Given the description of an element on the screen output the (x, y) to click on. 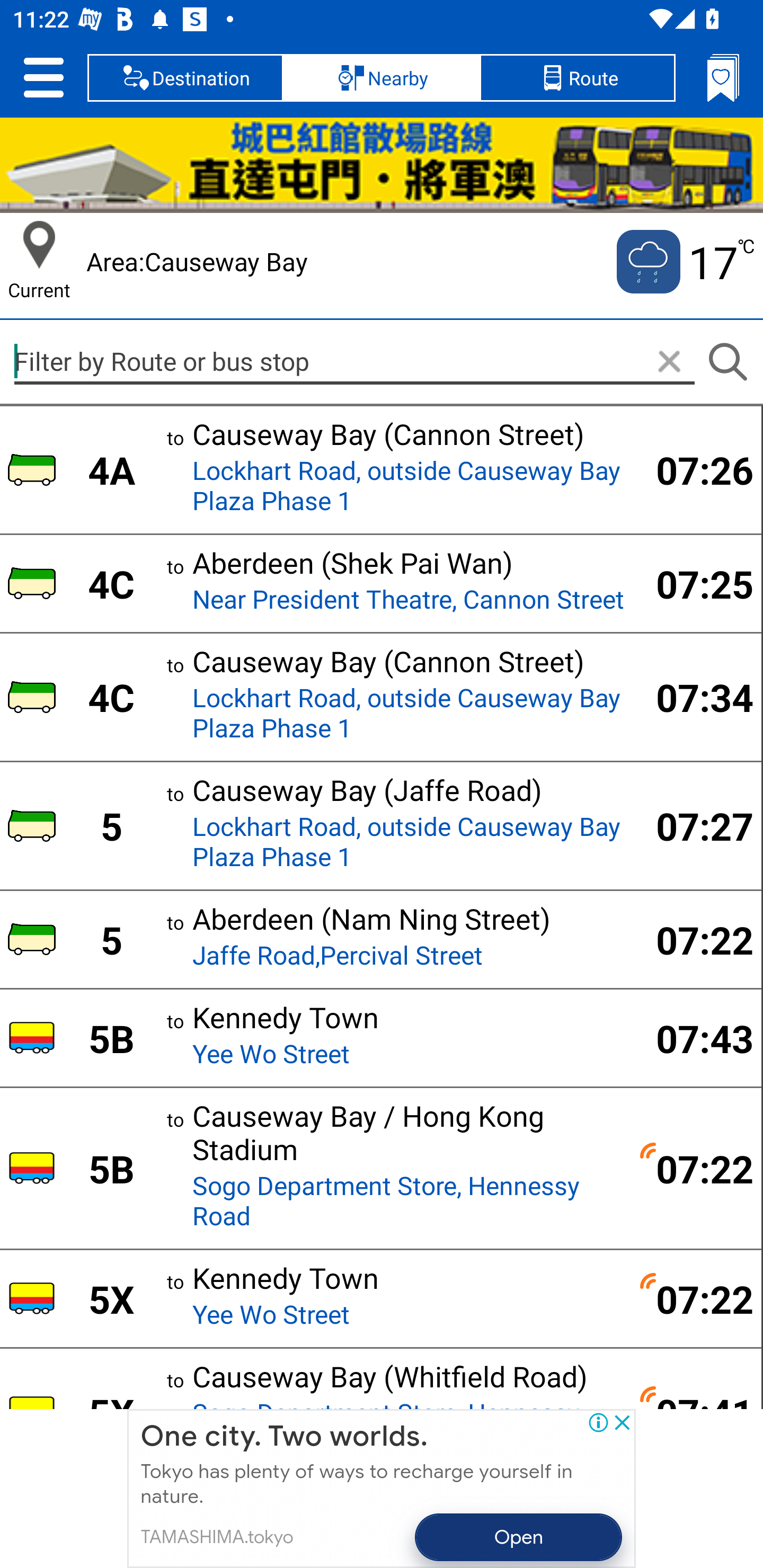
Destination (185, 77)
Nearby, selected (381, 77)
Route (577, 77)
Bookmarks (723, 77)
Setting (43, 77)
HKC (381, 165)
Current Location (38, 244)
Current temputure is  17  no 17 ℃ (684, 261)
Filter by Route or bus stop (354, 361)
Search (727, 362)
Clear (669, 361)
07:26 (693, 469)
07:25 (693, 583)
07:34 (693, 696)
07:27 (693, 825)
07:22 (693, 939)
07:43 (693, 1037)
07:22 (693, 1168)
07:22 (693, 1298)
One city. Two worlds. (283, 1437)
Open (519, 1537)
TAMASHIMA.tokyo (216, 1537)
